Given the description of an element on the screen output the (x, y) to click on. 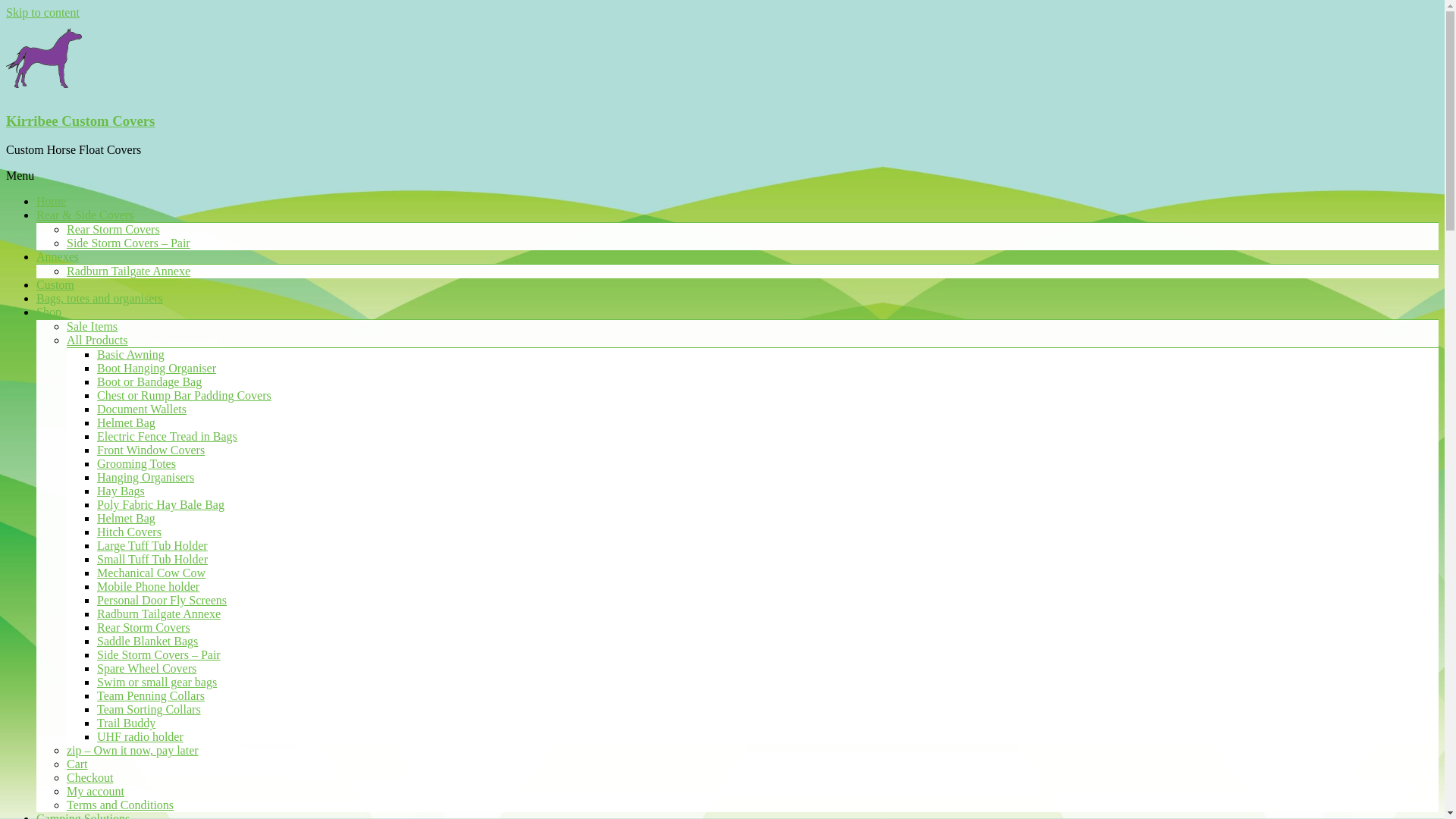
Grooming Totes Element type: text (136, 463)
My account Element type: text (95, 790)
Poly Fabric Hay Bale Bag Element type: text (160, 504)
Large Tuff Tub Holder Element type: text (152, 545)
Spare Wheel Covers Element type: text (146, 668)
Team Penning Collars Element type: text (150, 695)
Trail Buddy Element type: text (126, 722)
Team Sorting Collars Element type: text (148, 708)
Mechanical Cow Cow Element type: text (151, 572)
Annexes Element type: text (57, 256)
Rear & Side Covers Element type: text (84, 214)
Terms and Conditions Element type: text (119, 804)
Home Element type: text (50, 200)
Front Window Covers Element type: text (150, 449)
Electric Fence Tread in Bags Element type: text (167, 435)
Chest or Rump Bar Padding Covers Element type: text (184, 395)
Helmet Bag Element type: text (126, 422)
Saddle Blanket Bags Element type: text (147, 640)
Sale Items Element type: text (91, 326)
UHF radio holder Element type: text (140, 736)
Small Tuff Tub Holder Element type: text (152, 558)
Cart Element type: text (76, 763)
Hay Bags Element type: text (120, 490)
Radburn Tailgate Annexe Element type: text (158, 613)
All Products Element type: text (96, 339)
Bags, totes and organisers Element type: text (99, 297)
Document Wallets Element type: text (141, 408)
Personal Door Fly Screens Element type: text (161, 599)
Hanging Organisers Element type: text (145, 476)
Boot or Bandage Bag Element type: text (149, 381)
Helmet Bag Element type: text (126, 517)
Mobile Phone holder Element type: text (148, 586)
Rear Storm Covers Element type: text (143, 627)
Basic Awning Element type: text (130, 354)
Radburn Tailgate Annexe Element type: text (128, 270)
Shop Element type: text (48, 311)
Swim or small gear bags Element type: text (156, 681)
Kirribee Custom Covers Element type: text (80, 120)
Skip to content Element type: text (42, 12)
Rear Storm Covers Element type: text (113, 228)
Hitch Covers Element type: text (129, 531)
Checkout Element type: text (89, 777)
Custom Element type: text (55, 284)
Boot Hanging Organiser Element type: text (156, 367)
